Given the description of an element on the screen output the (x, y) to click on. 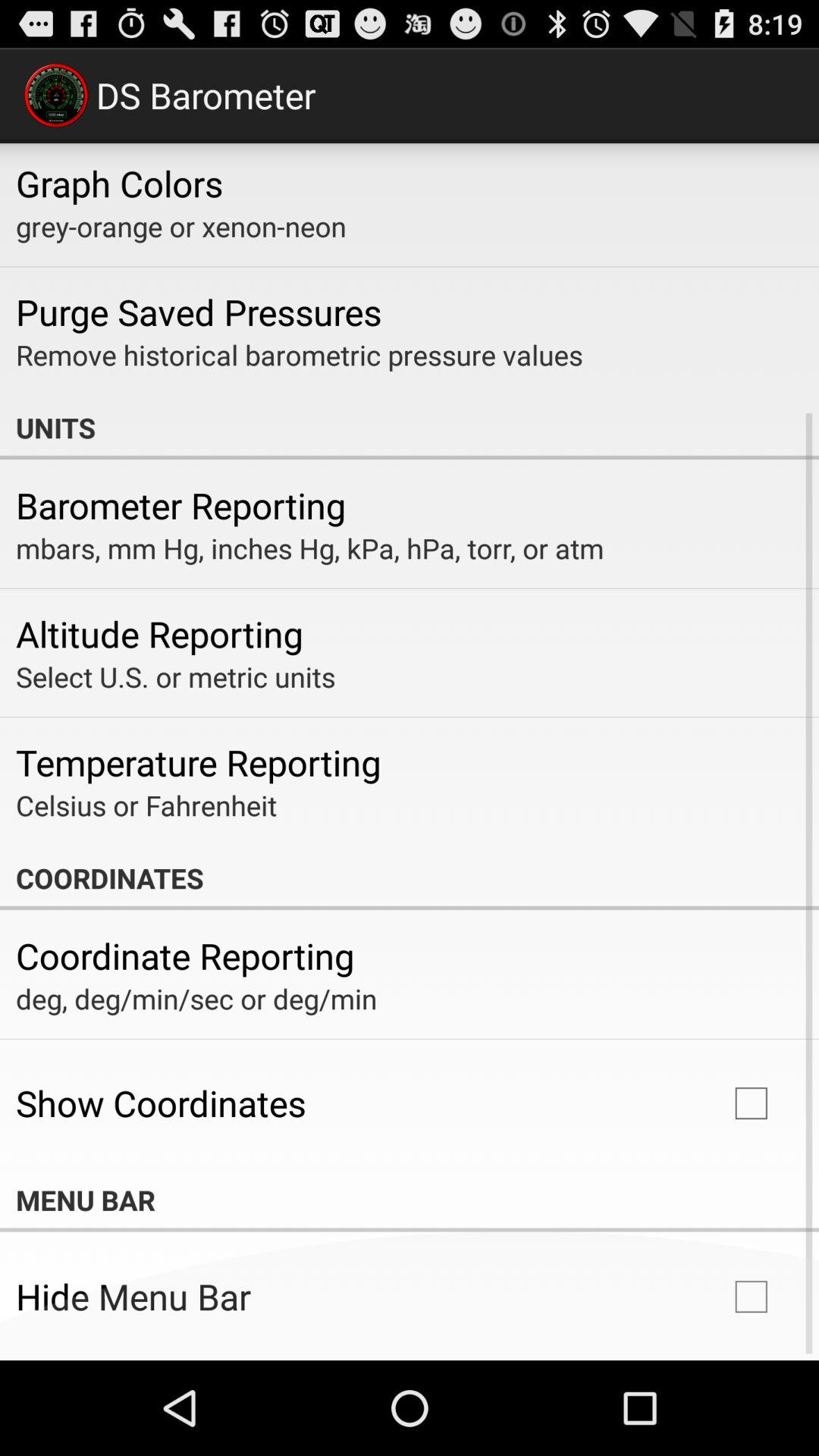
press the show coordinates icon (160, 1102)
